Given the description of an element on the screen output the (x, y) to click on. 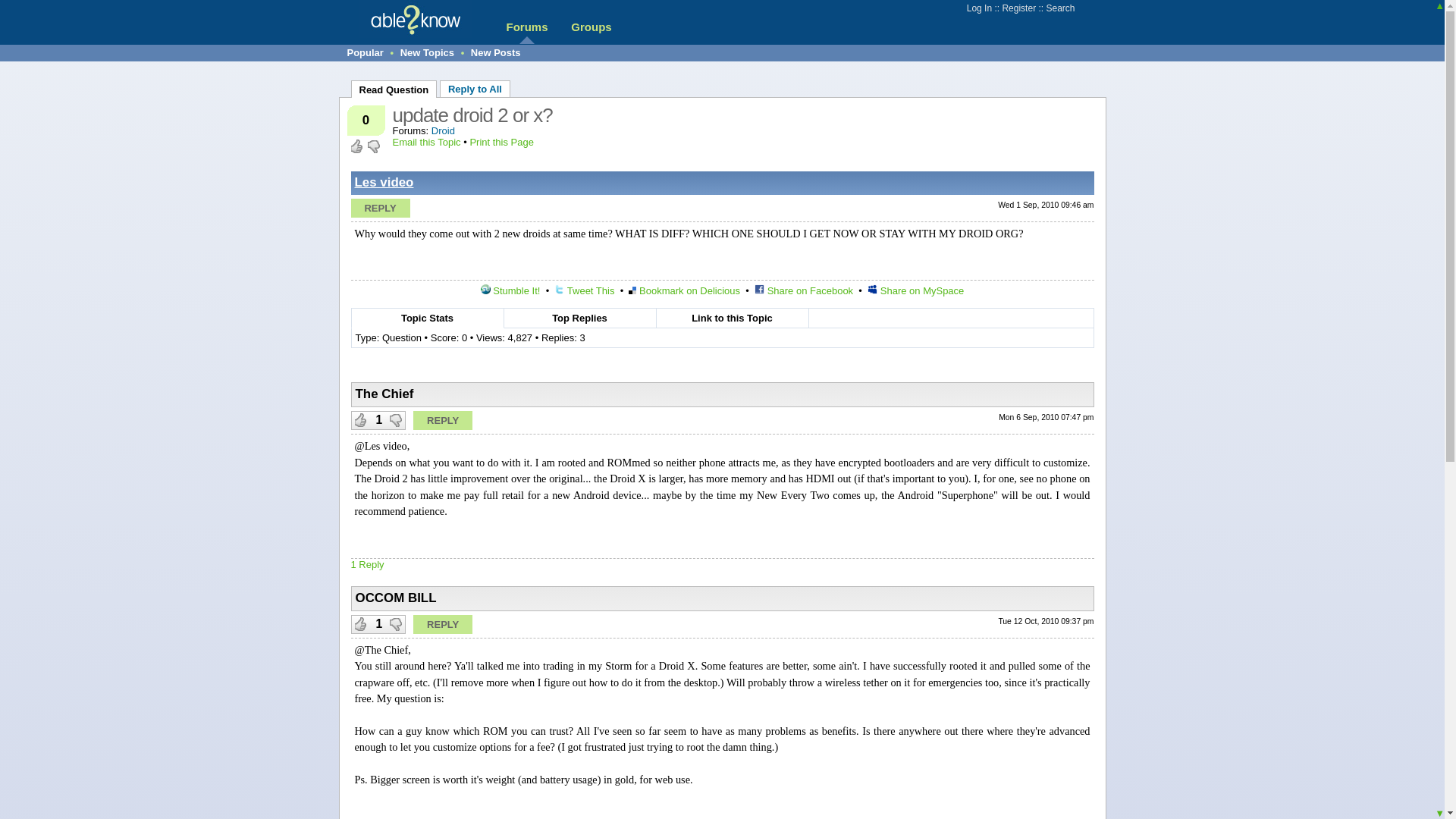
View Profile (384, 182)
Les video (384, 182)
Register (1018, 8)
Reply to All (475, 88)
Droid Forum (442, 130)
Reply (379, 208)
Reply (442, 624)
Forums (526, 26)
Bookmark on Delicious (683, 290)
Reply to All (475, 88)
Email this Topic (427, 142)
Search (1059, 8)
Search (1059, 8)
Print this Page (501, 142)
Stumble It! (510, 290)
